Given the description of an element on the screen output the (x, y) to click on. 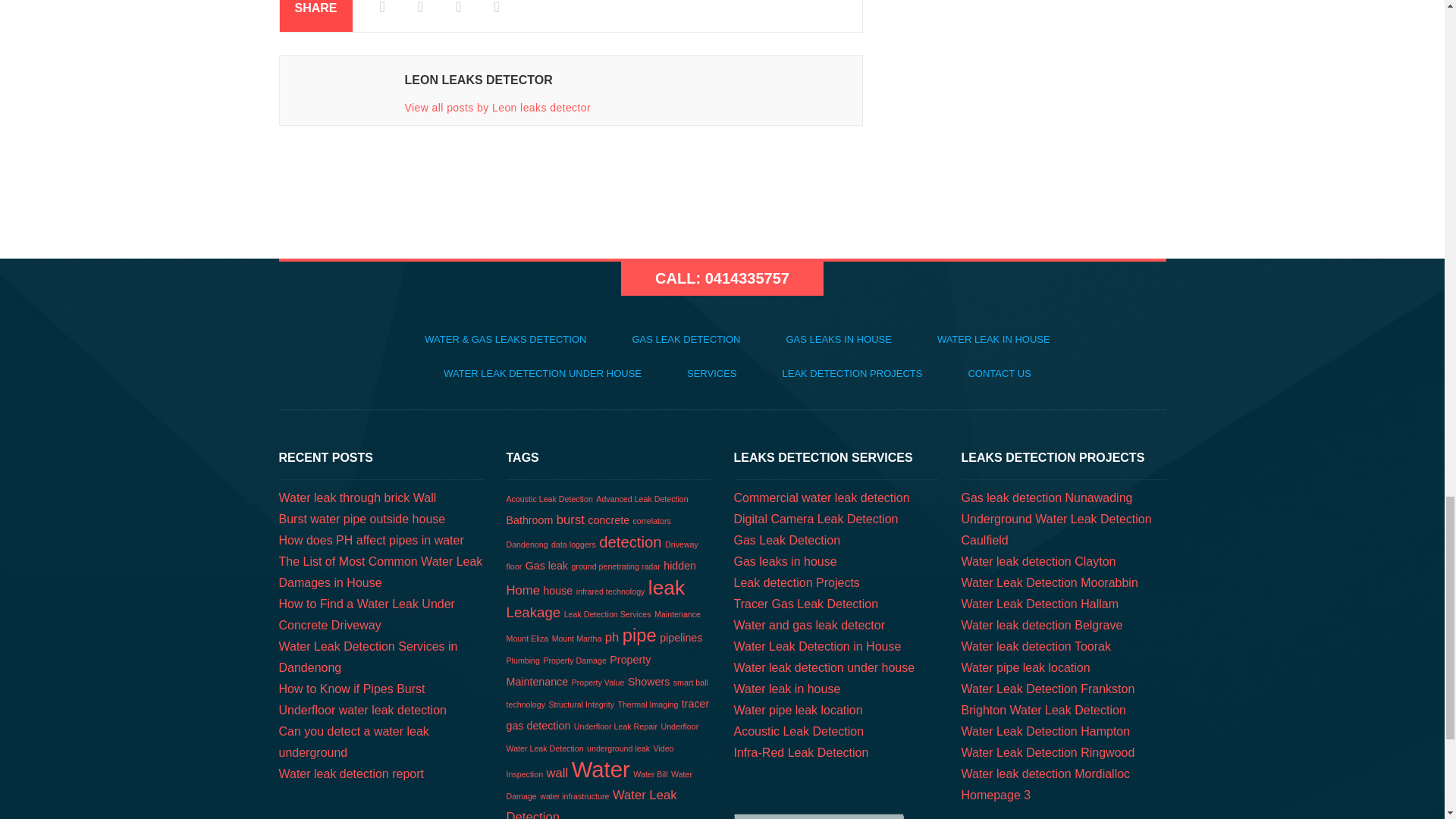
Acoustic Leak Detection (798, 730)
CALL: 0414335757 (722, 278)
Water Leak Detection in House (817, 645)
Search for: (818, 816)
SHARE (315, 15)
Infra-Red Leak Detection (801, 752)
View all posts by Leon leaks detector (497, 107)
